Given the description of an element on the screen output the (x, y) to click on. 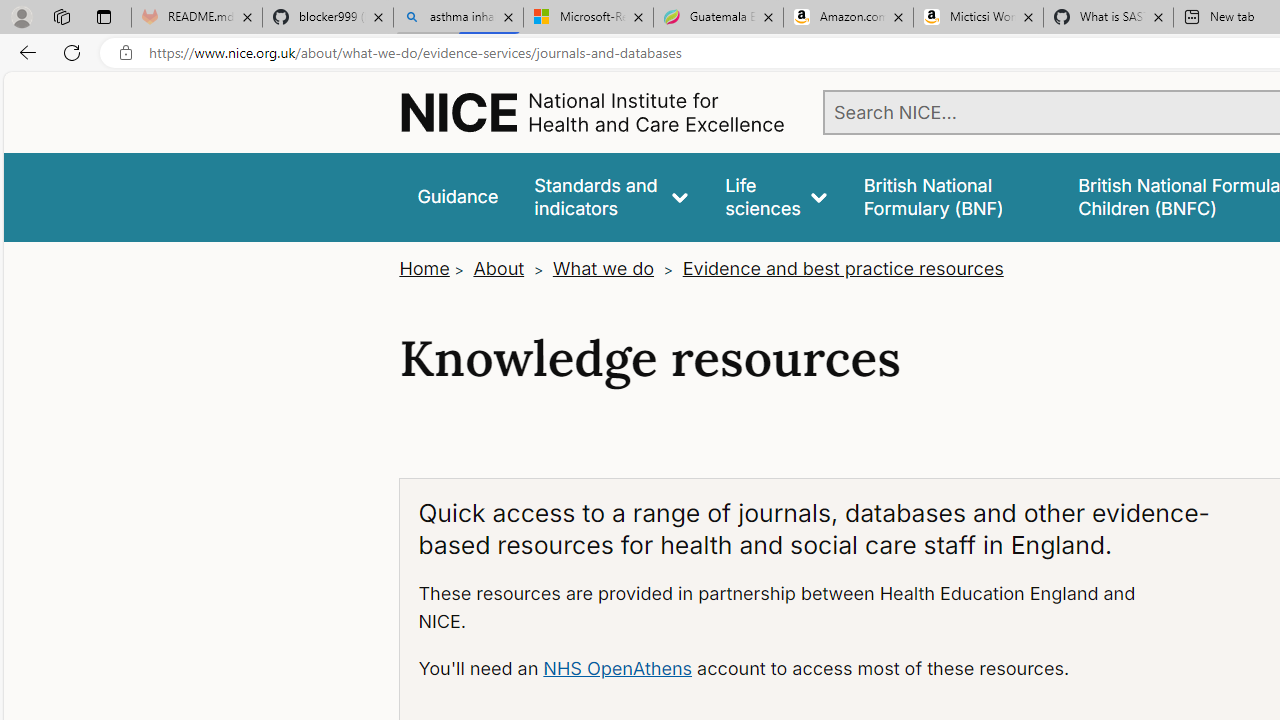
asthma inhaler - Search (458, 17)
Evidence and best practice resources (842, 268)
Evidence and best practice resources (842, 268)
About> (510, 268)
Home> (433, 268)
